Given the description of an element on the screen output the (x, y) to click on. 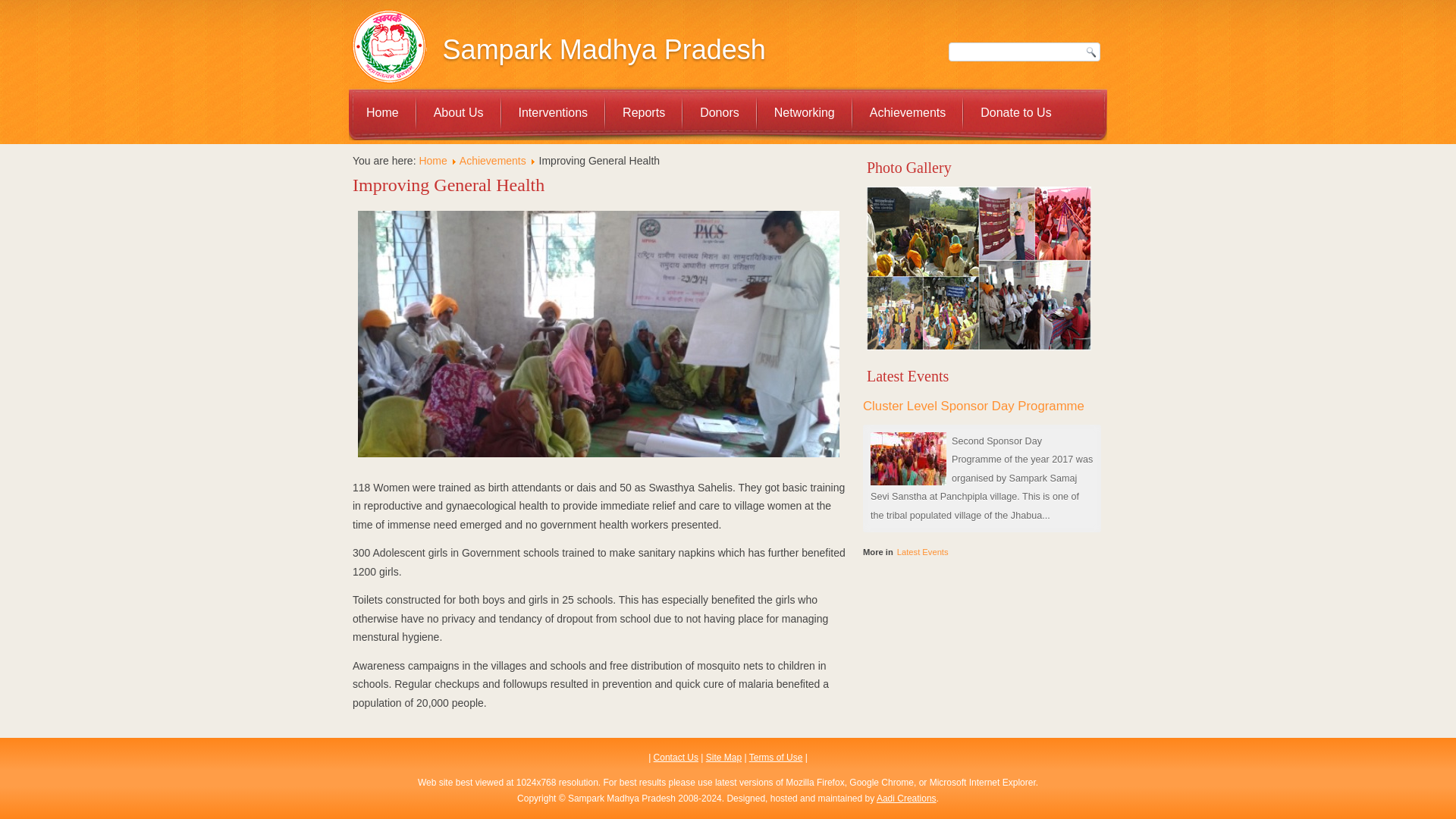
Donors (718, 112)
Home (432, 160)
Interventions (553, 112)
Latest Events (922, 551)
About Us (458, 112)
Achievements (492, 160)
Reports (643, 112)
Cluster Level Sponsor Day Programme (973, 405)
Achievements (907, 112)
Donate to Us (1015, 112)
Networking (804, 112)
Home (381, 112)
Sampark Madhya Pradesh (603, 49)
